Given the description of an element on the screen output the (x, y) to click on. 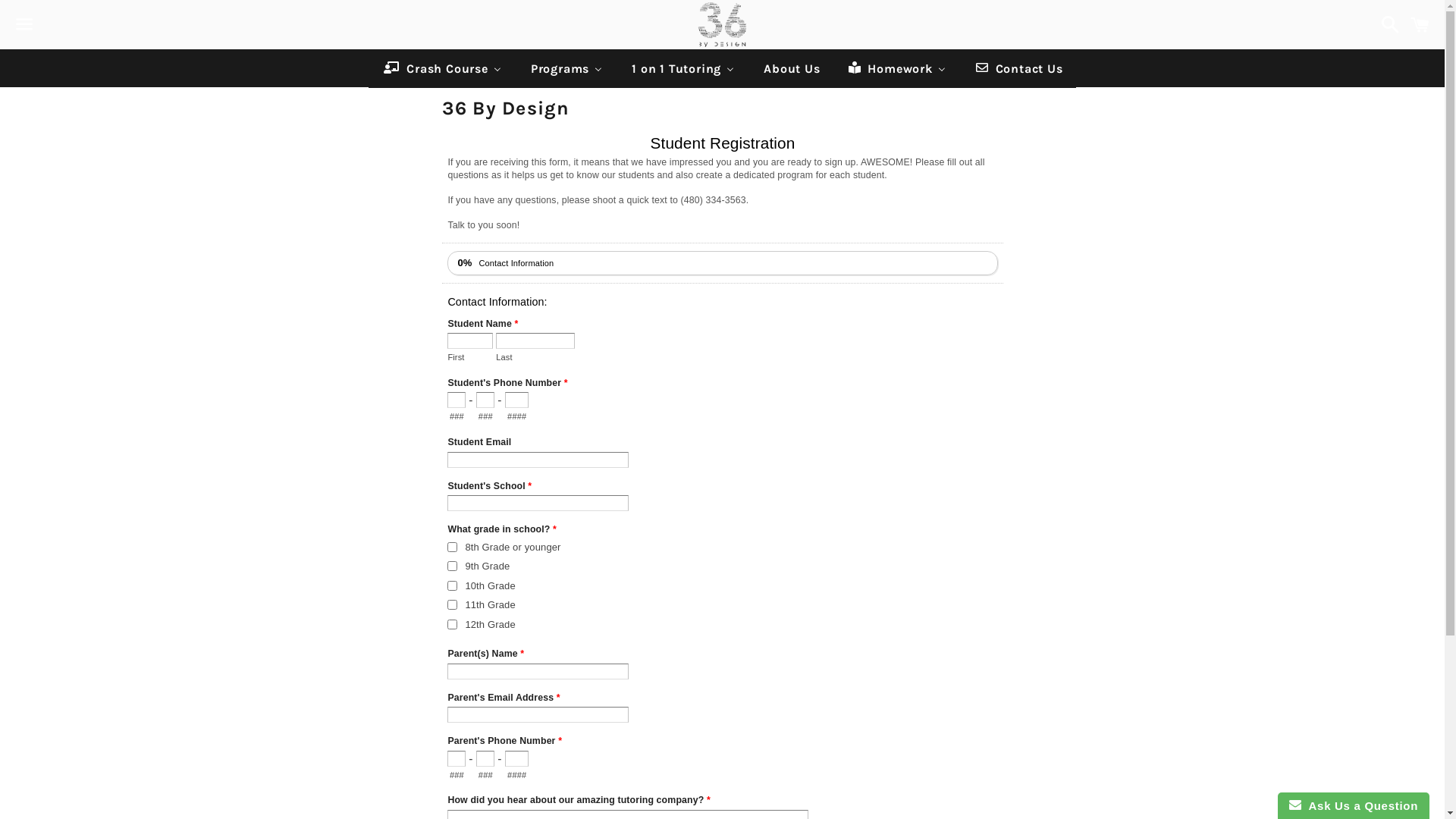
Cart Element type: text (1419, 24)
Crash Course Element type: text (441, 68)
Programs Element type: text (566, 68)
About Us Element type: text (790, 68)
Contact Us Element type: text (1018, 68)
1 on 1 Tutoring Element type: text (683, 68)
Menu Element type: text (24, 24)
Search Element type: text (1386, 24)
Homework Element type: text (896, 68)
